Given the description of an element on the screen output the (x, y) to click on. 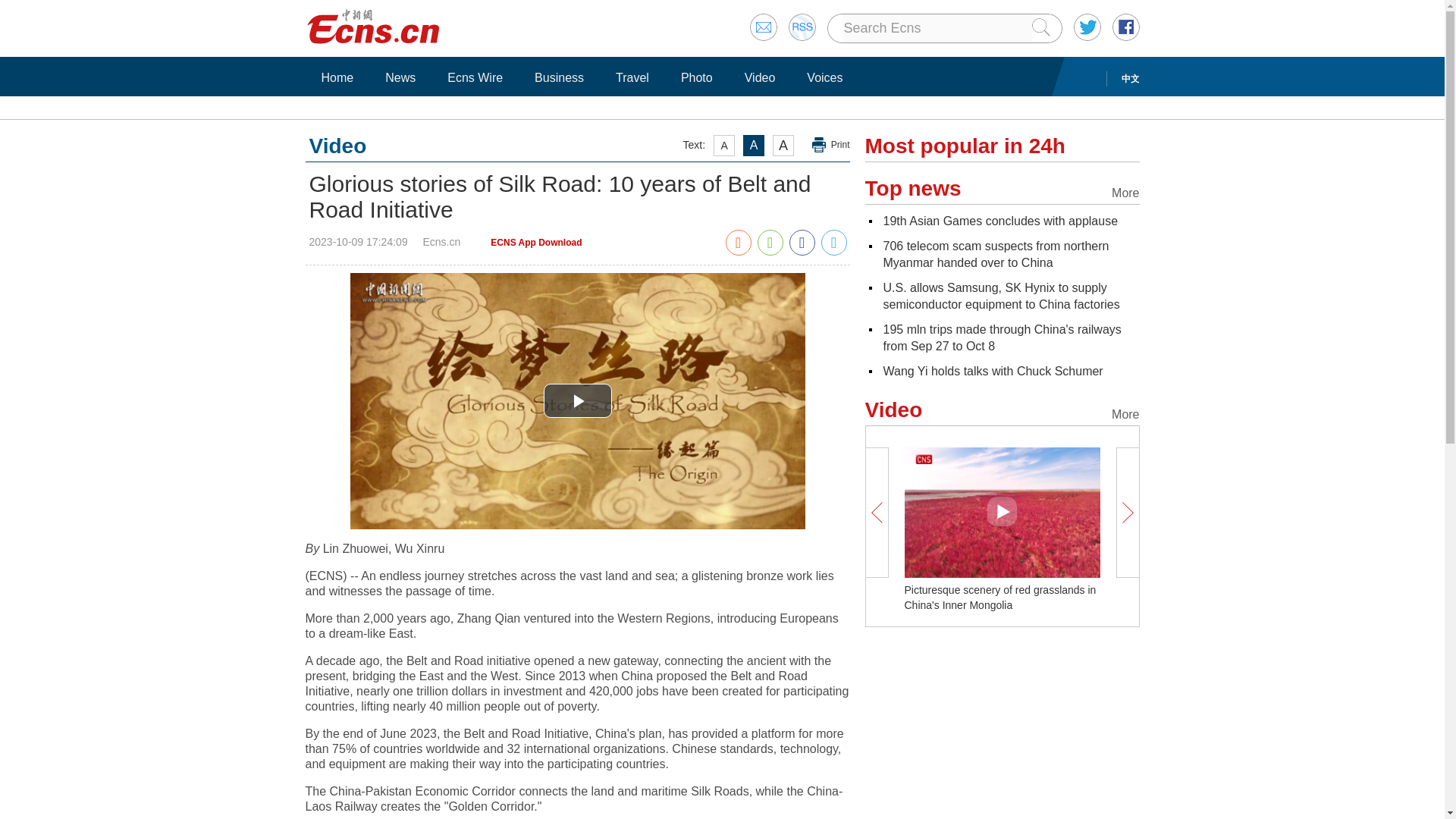
ECNS App Download (535, 242)
Print (831, 144)
Voices (823, 77)
Video (760, 77)
Travel (632, 77)
Photo (696, 77)
News (400, 77)
Ecns Wire (475, 77)
Search Ecns (935, 27)
Play Video (577, 400)
